Given the description of an element on the screen output the (x, y) to click on. 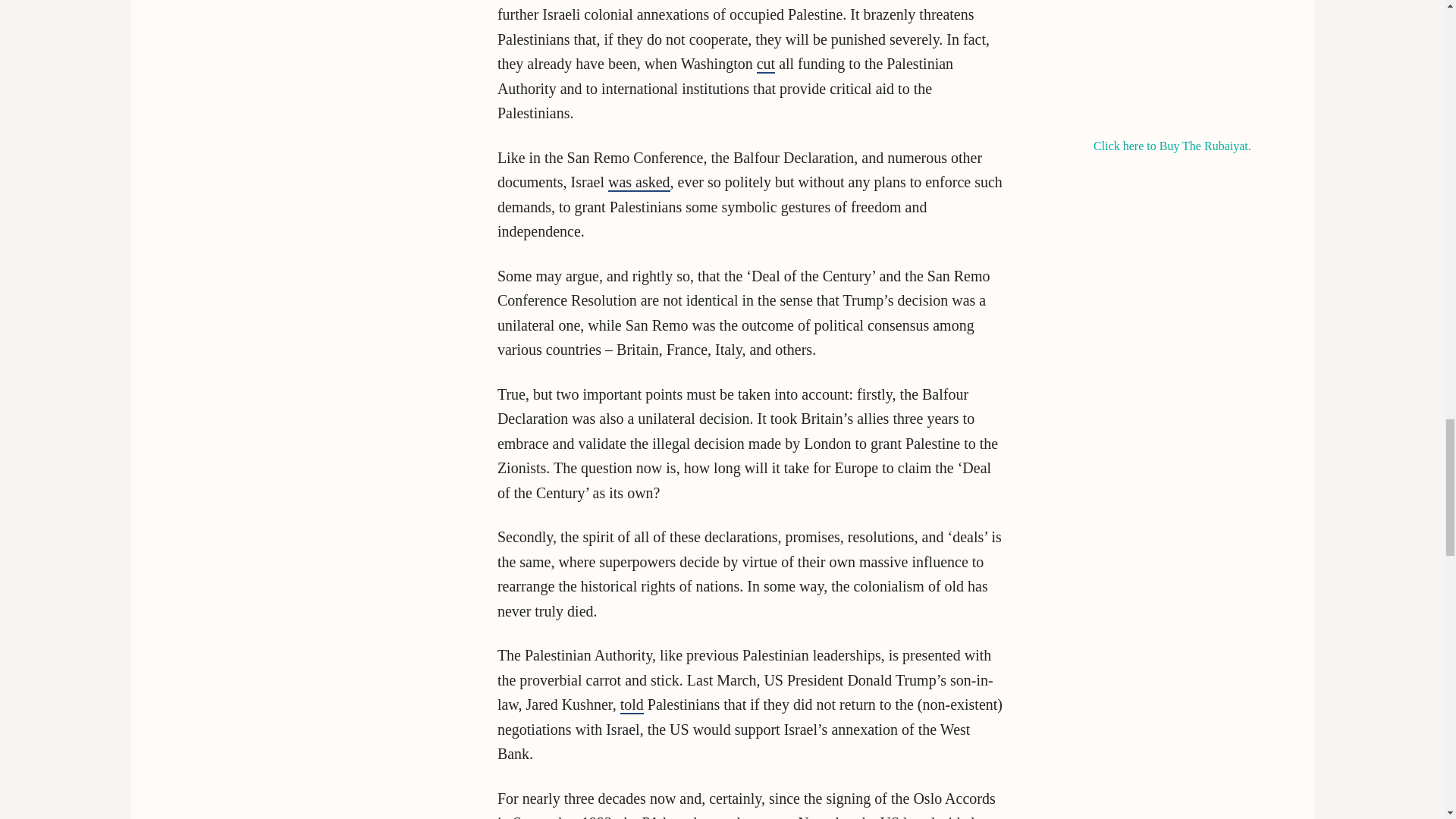
told (631, 705)
cut (765, 64)
was asked (638, 182)
